Given the description of an element on the screen output the (x, y) to click on. 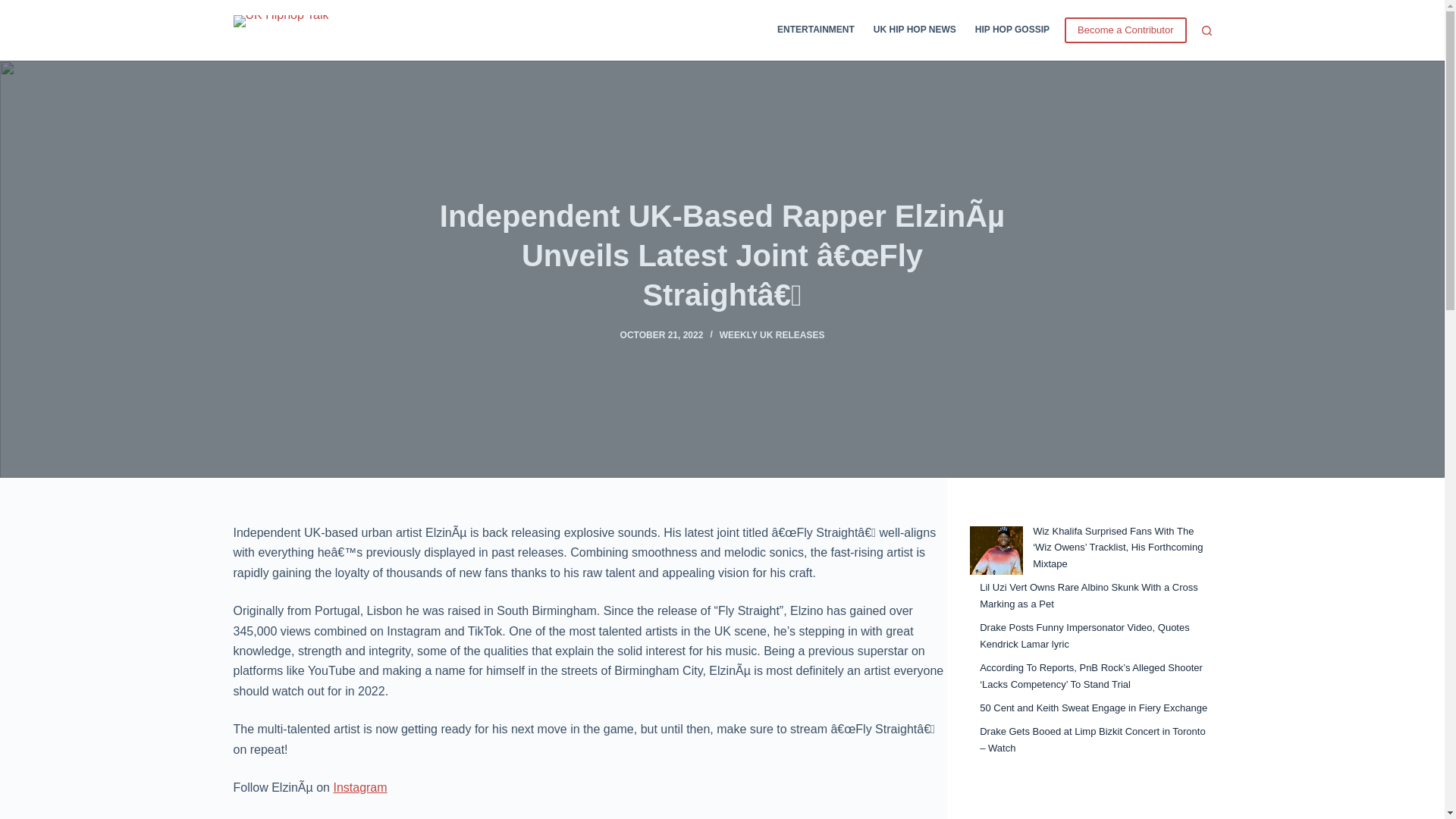
Instagram (360, 787)
Skip to content (15, 7)
ENTERTAINMENT (820, 30)
Become a Contributor (1125, 30)
UK HIP HOP NEWS (914, 30)
50 Cent and Keith Sweat Engage in Fiery Exchange (1093, 707)
WEEKLY UK RELEASES (772, 335)
HIP HOP GOSSIP (1007, 30)
